Given the description of an element on the screen output the (x, y) to click on. 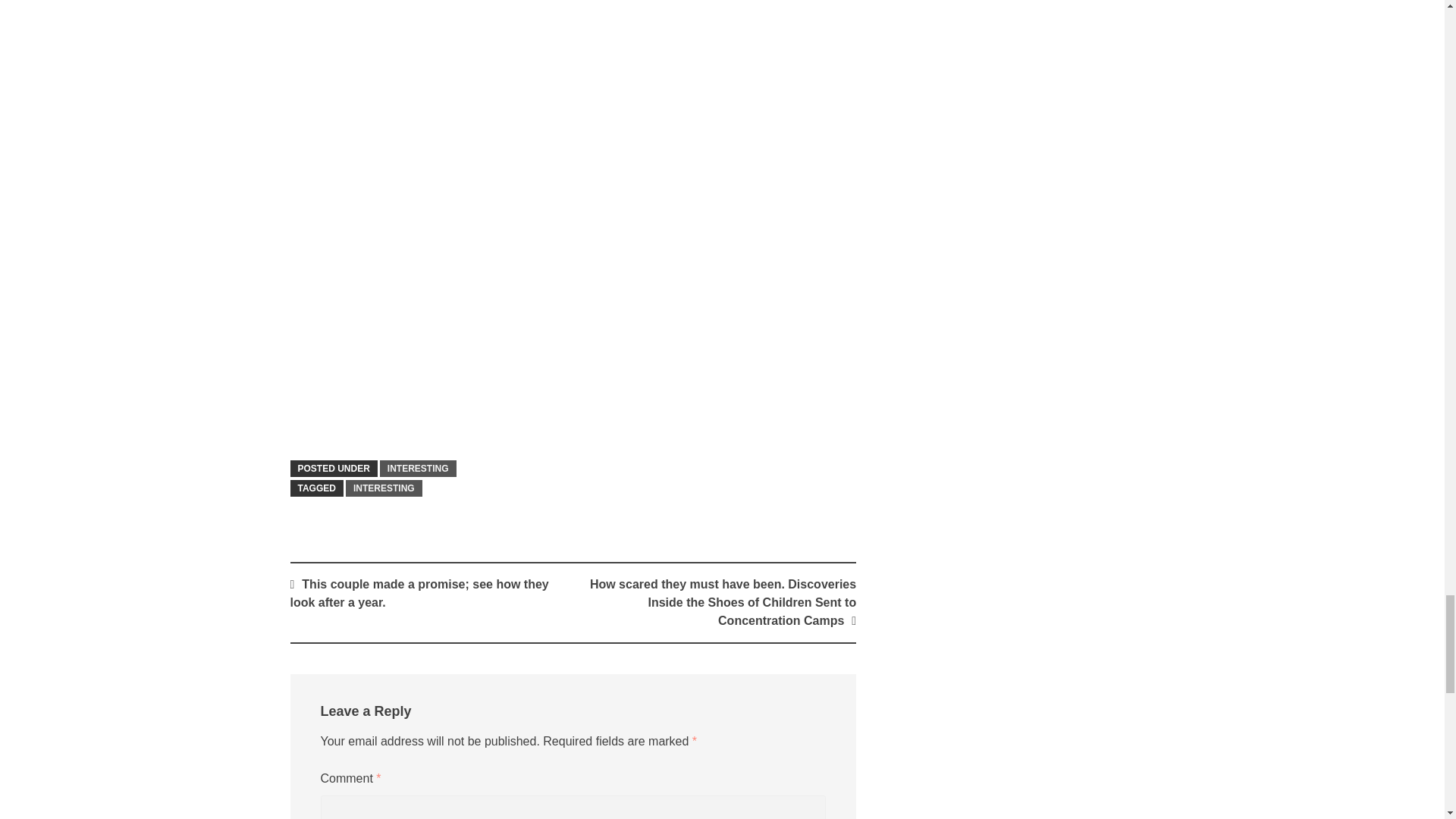
INTERESTING (384, 487)
INTERESTING (418, 468)
This couple made a promise; see how they look after a year. (418, 593)
